Given the description of an element on the screen output the (x, y) to click on. 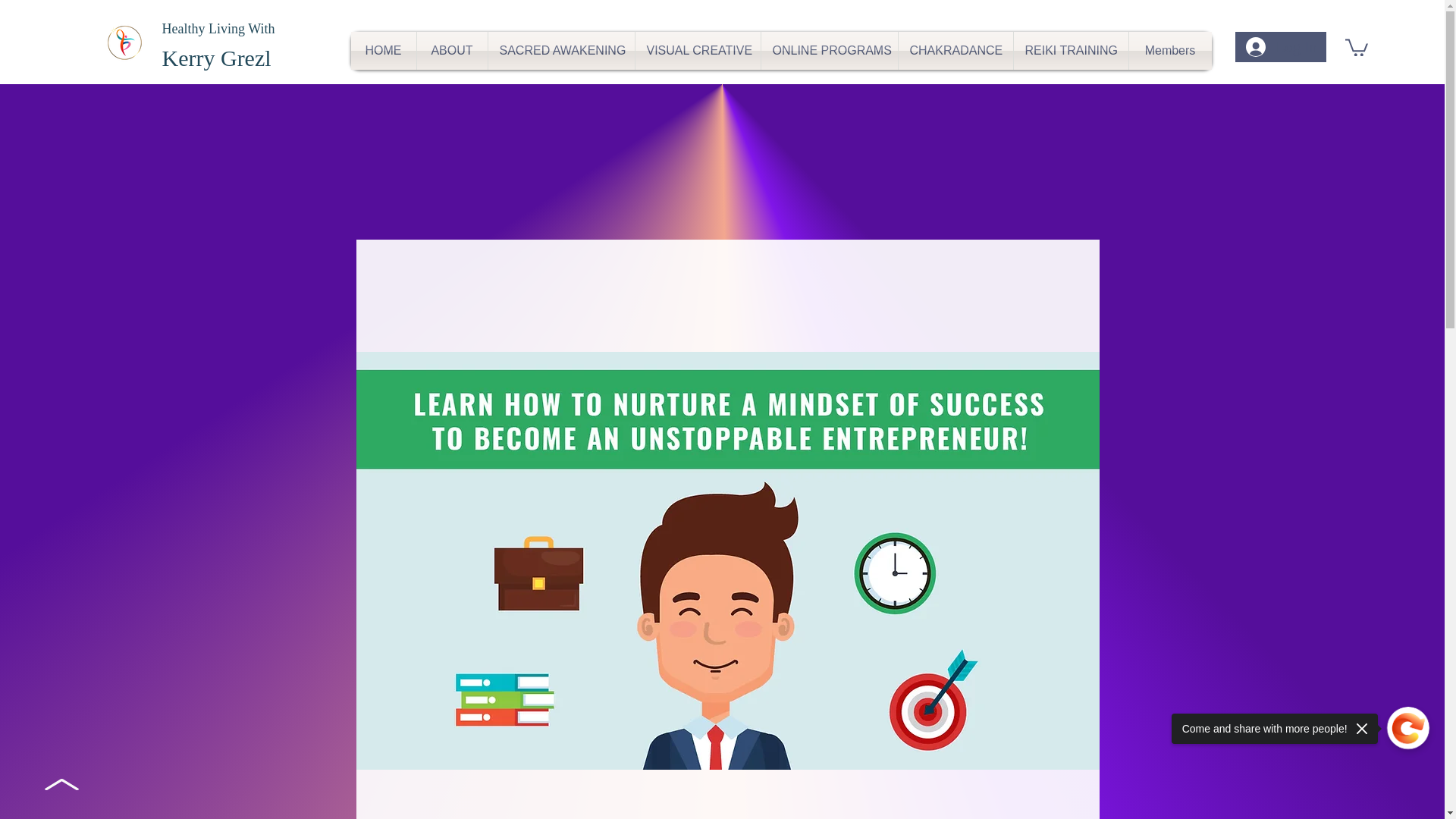
ONLINE PROGRAMS (829, 50)
HOME (382, 50)
ABOUT (451, 50)
REIKI TRAINING (1069, 50)
VISUAL CREATIVE (697, 50)
Members (1169, 50)
SACRED AWAKENING (560, 50)
CHAKRADANCE (954, 50)
Healthy Living With (218, 28)
Kerry Grezl (215, 57)
Log In (1279, 46)
